Given the description of an element on the screen output the (x, y) to click on. 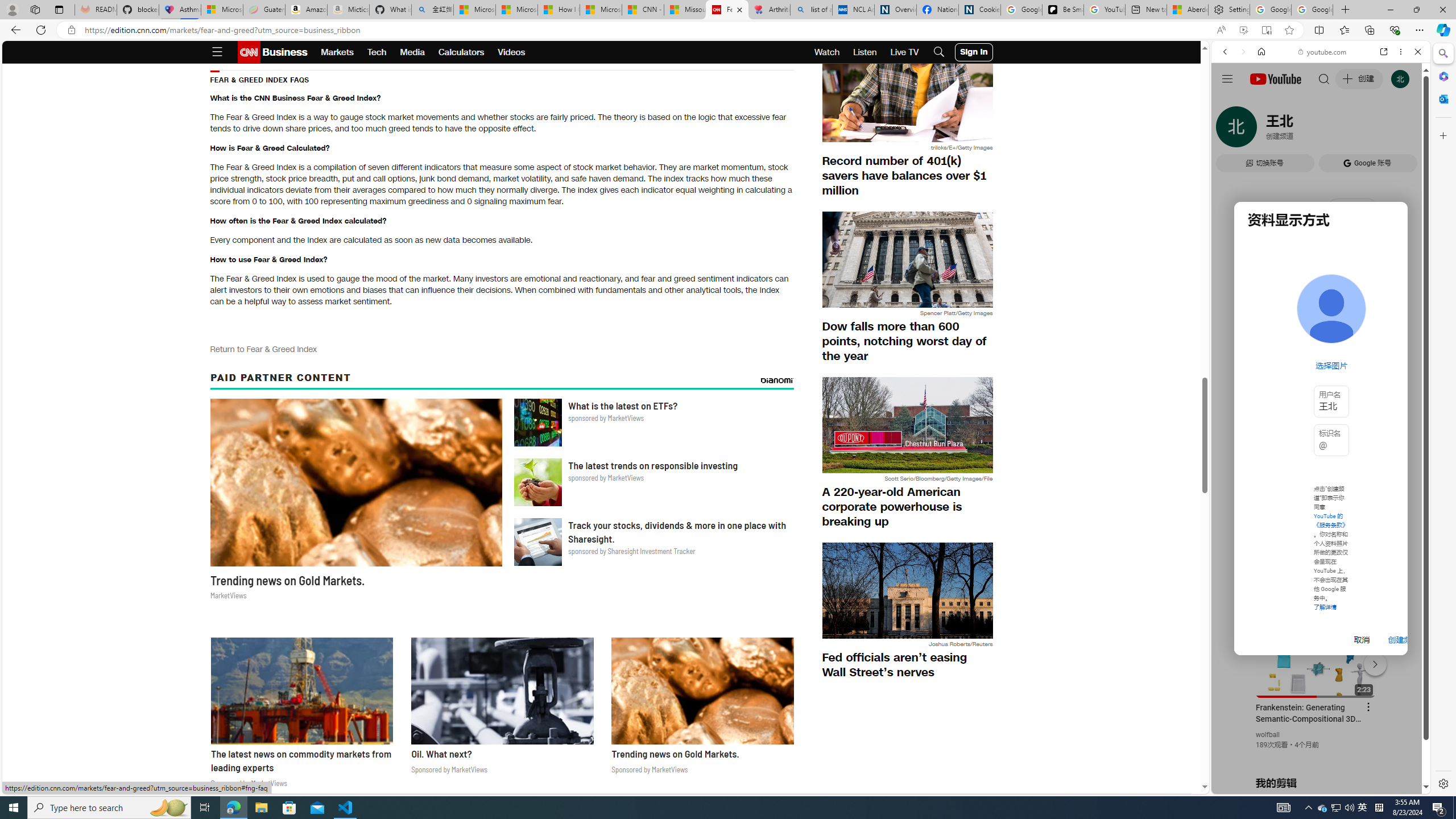
CNN - MSN (642, 9)
Close Outlook pane (1442, 98)
Music (1320, 309)
App bar (728, 29)
Search the web (1326, 78)
GettyImages-959095538 copy.jpg (906, 93)
Trailer #2 [HD] (1320, 337)
list of asthma inhalers uk - Search (810, 9)
